Given the description of an element on the screen output the (x, y) to click on. 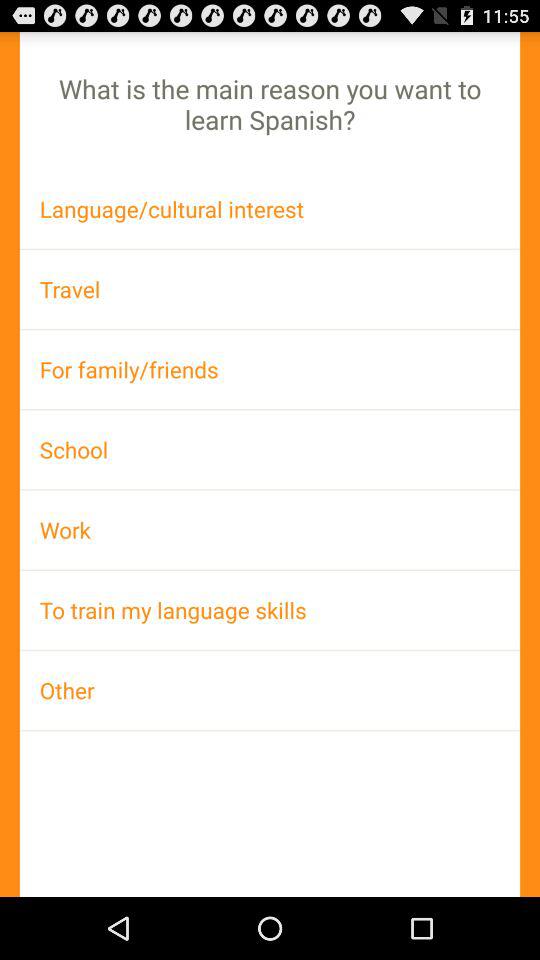
choose app below for family/friends app (269, 449)
